Given the description of an element on the screen output the (x, y) to click on. 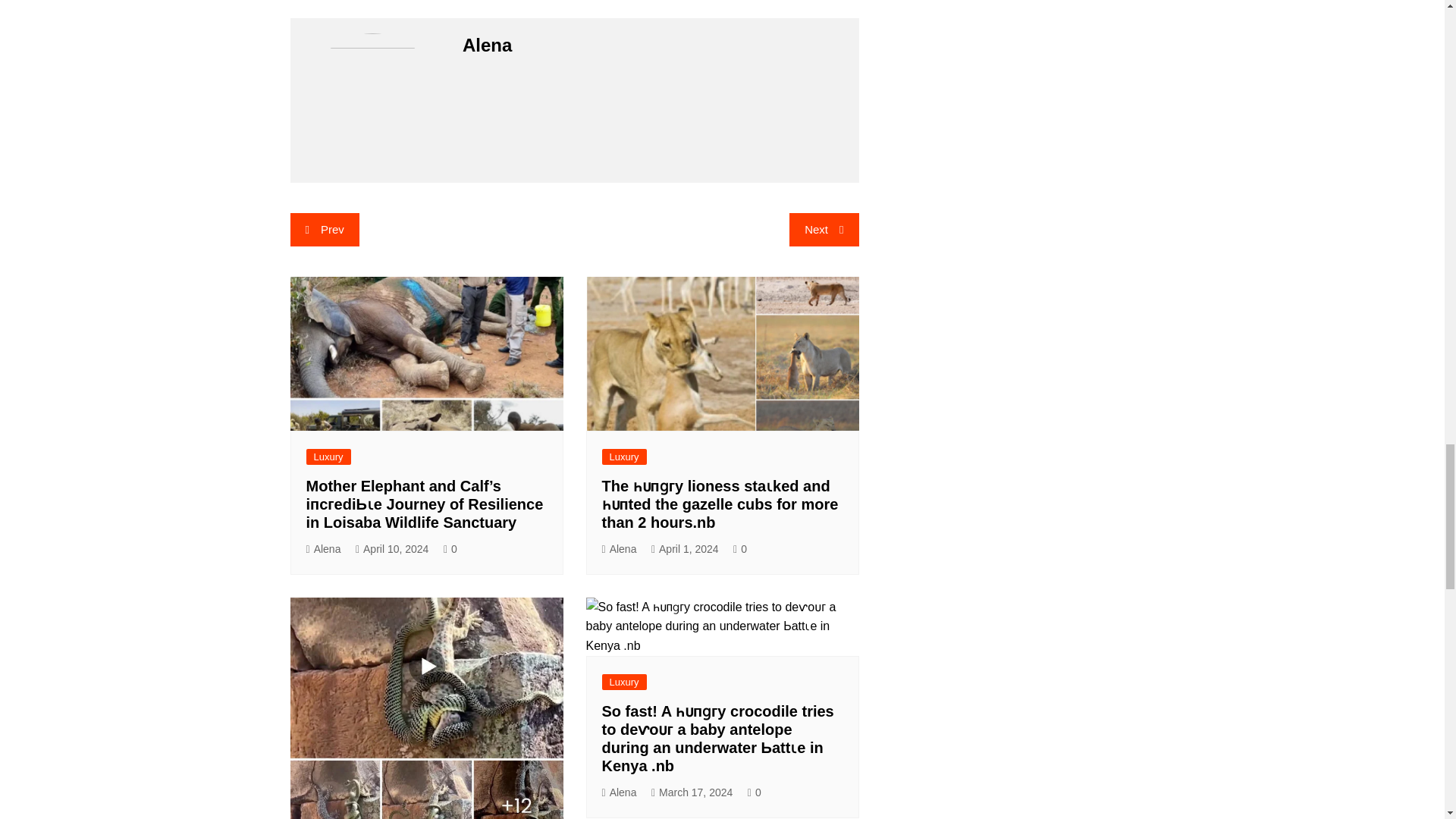
Alena (619, 548)
Prev (323, 229)
Luxury (624, 456)
Luxury (327, 456)
March 17, 2024 (691, 792)
Next (824, 229)
April 1, 2024 (684, 548)
Alena (322, 548)
April 10, 2024 (392, 548)
Alena (619, 792)
